Given the description of an element on the screen output the (x, y) to click on. 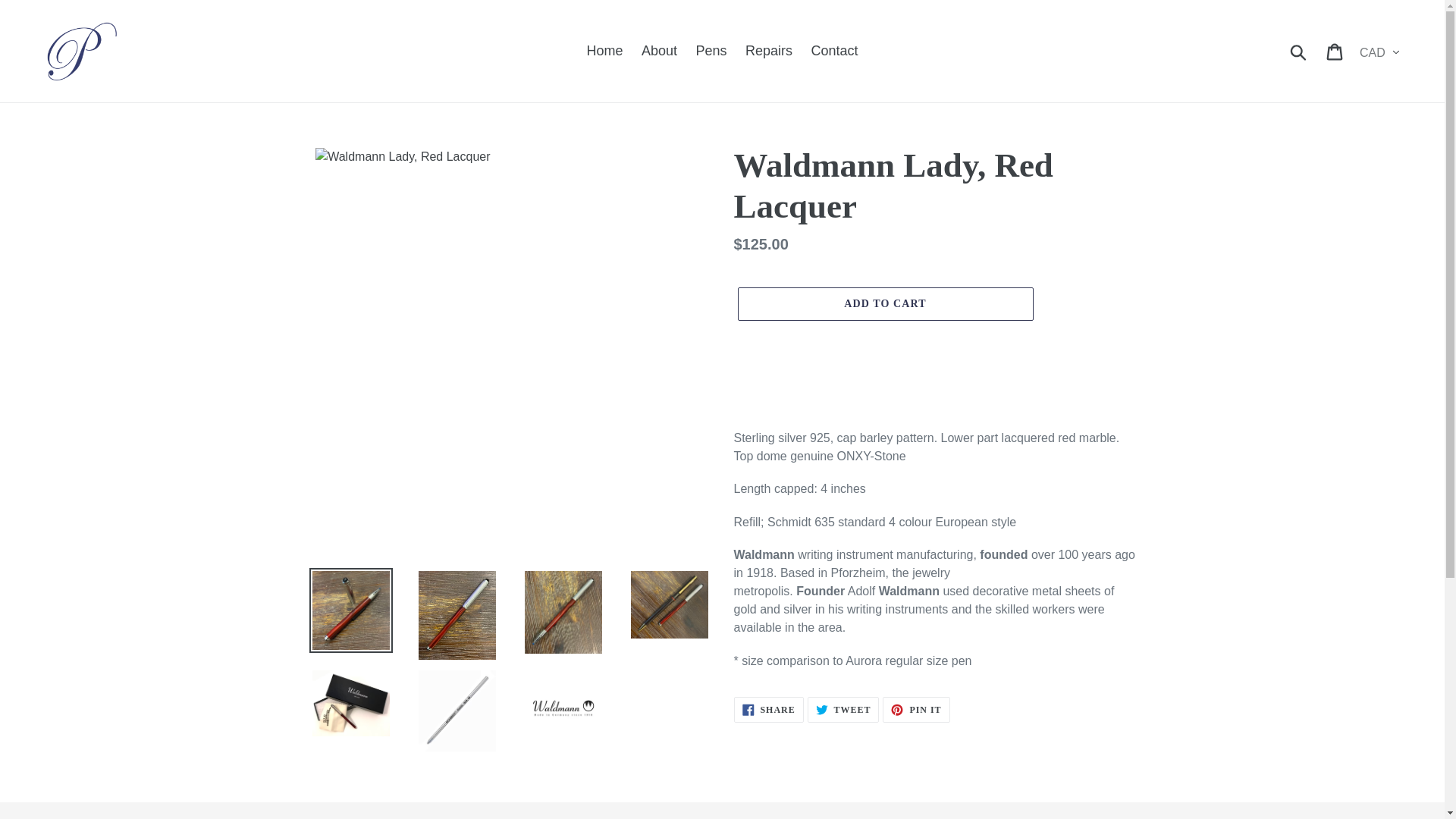
Contact (768, 709)
Home (833, 50)
About (915, 709)
ADD TO CART (604, 50)
Pens (658, 50)
Repairs (843, 709)
Cart (884, 304)
